Given the description of an element on the screen output the (x, y) to click on. 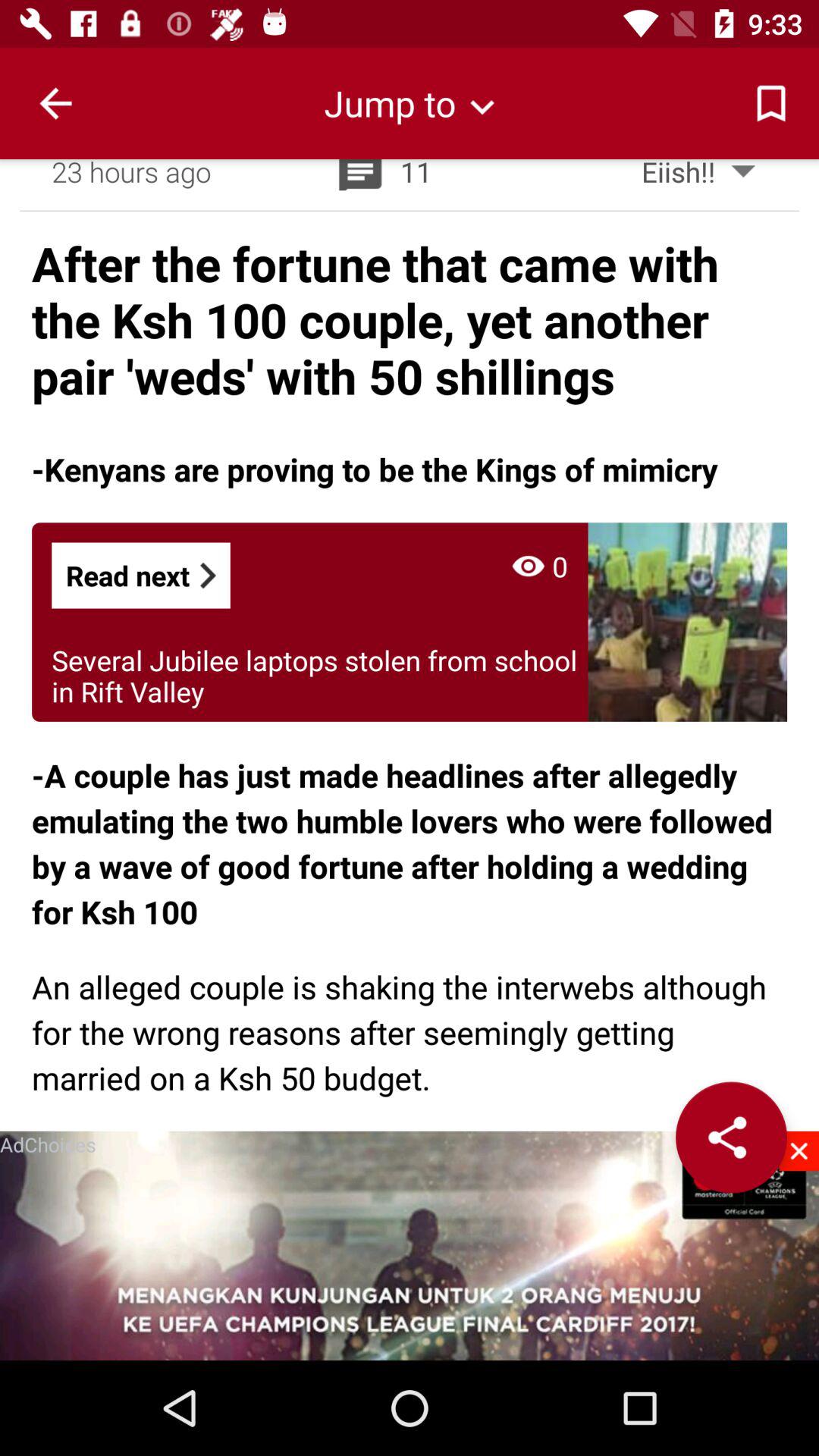
link social media (731, 1137)
